Given the description of an element on the screen output the (x, y) to click on. 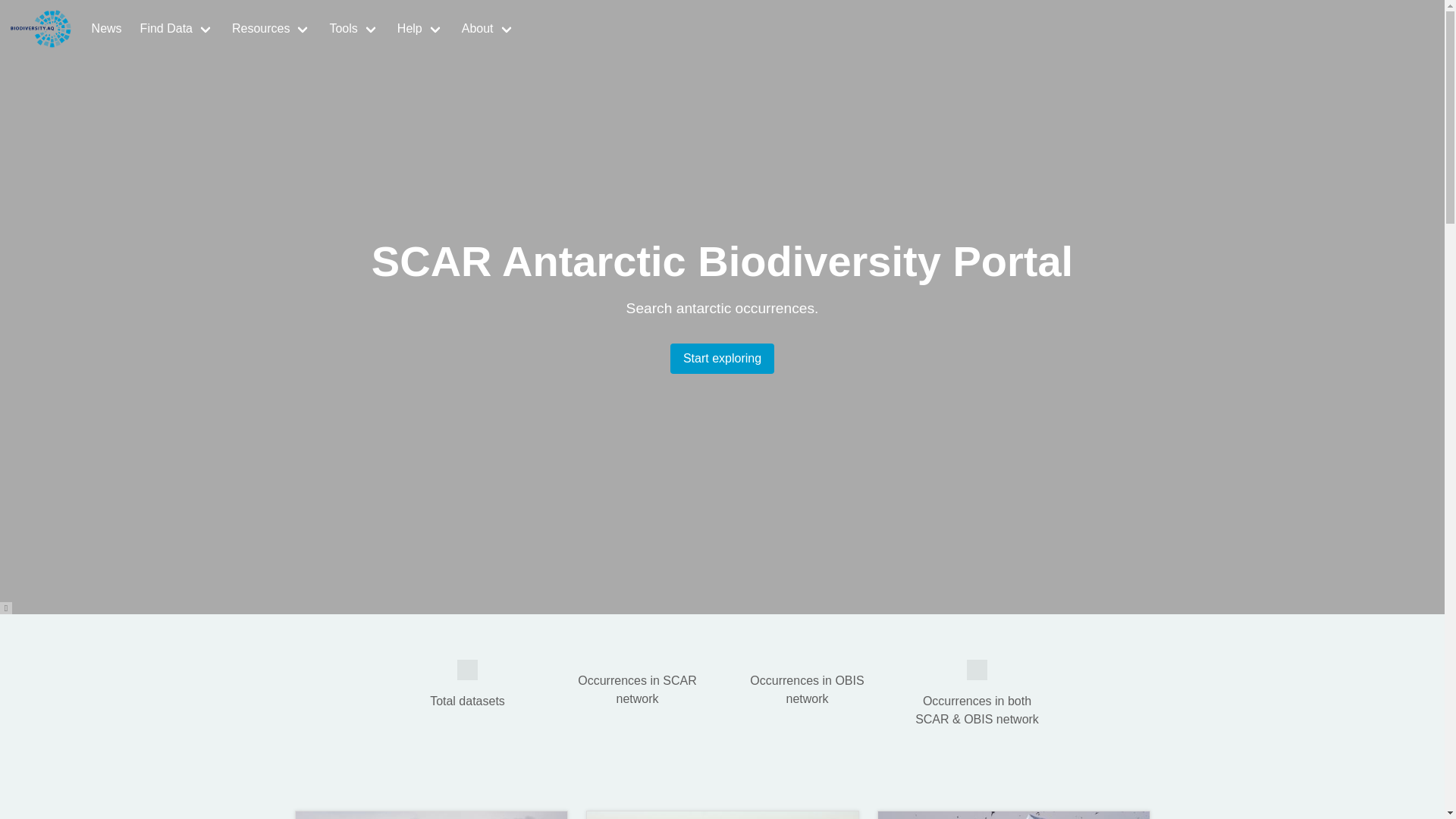
xx (467, 670)
Tools (353, 28)
Start exploring (721, 358)
About (488, 28)
Find Data (176, 28)
Help (420, 28)
Resources (271, 28)
